Given the description of an element on the screen output the (x, y) to click on. 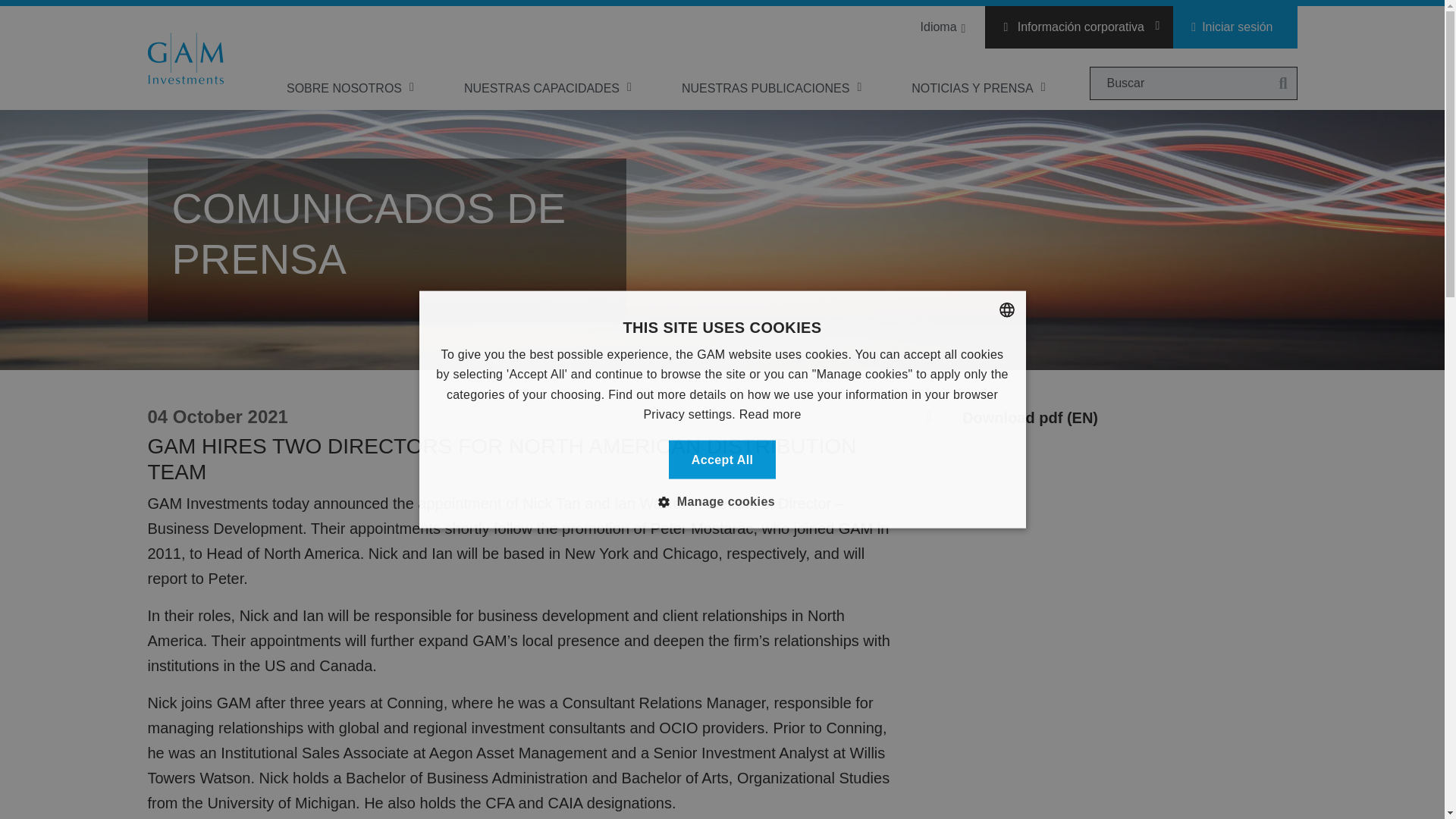
Search Button (1282, 82)
GAM.com (184, 58)
NUESTRAS CAPACIDADES (548, 87)
Gam.com (184, 58)
Idioma (941, 26)
SOBRE NOSOTROS (351, 87)
NUESTRAS PUBLICACIONES (772, 87)
